Given the description of an element on the screen output the (x, y) to click on. 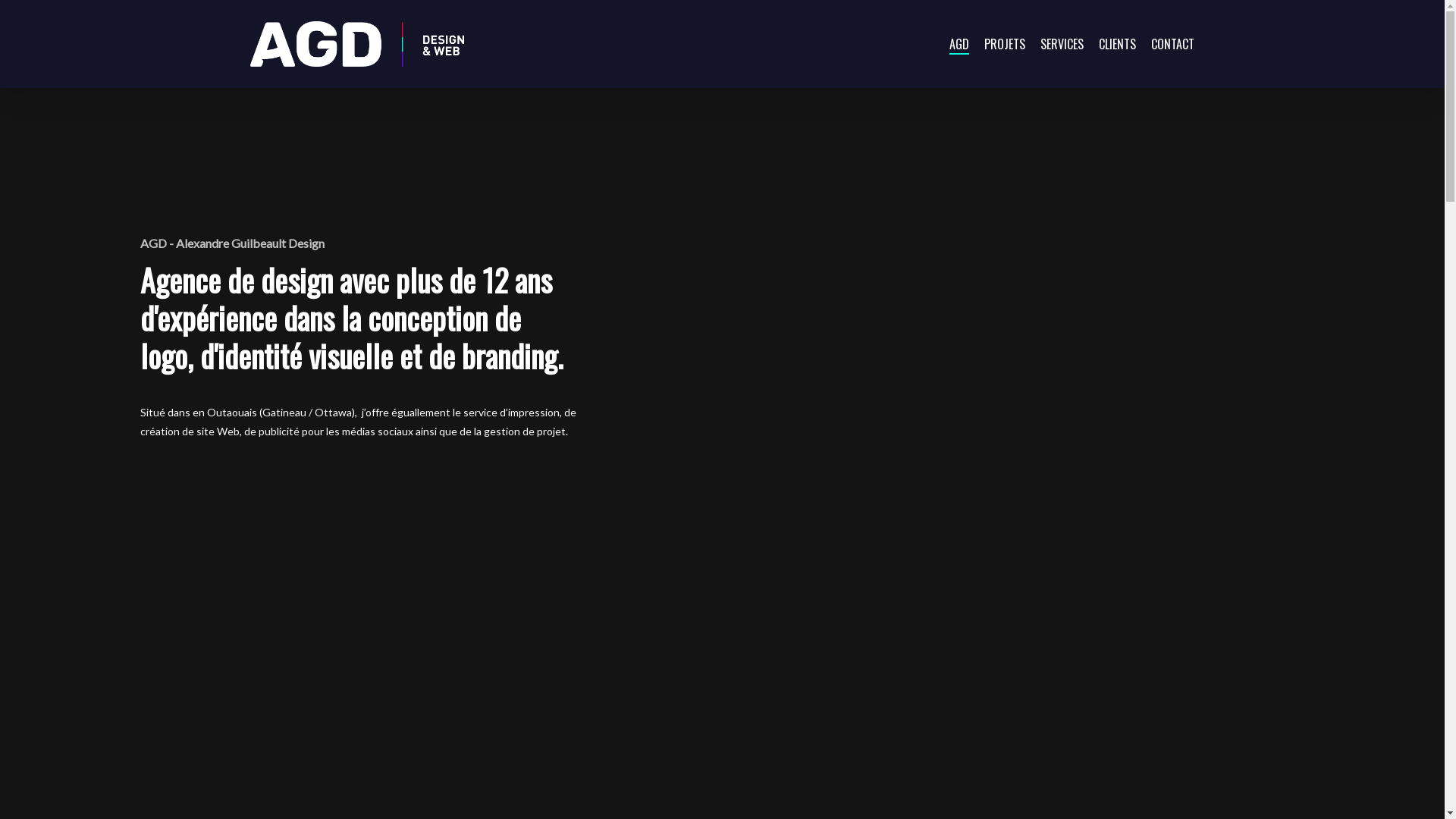
AGD Element type: text (959, 43)
CONTACT Element type: text (1172, 43)
PROJETS Element type: text (1004, 43)
SERVICES Element type: text (1061, 43)
CLIENTS Element type: text (1116, 43)
